Given the description of an element on the screen output the (x, y) to click on. 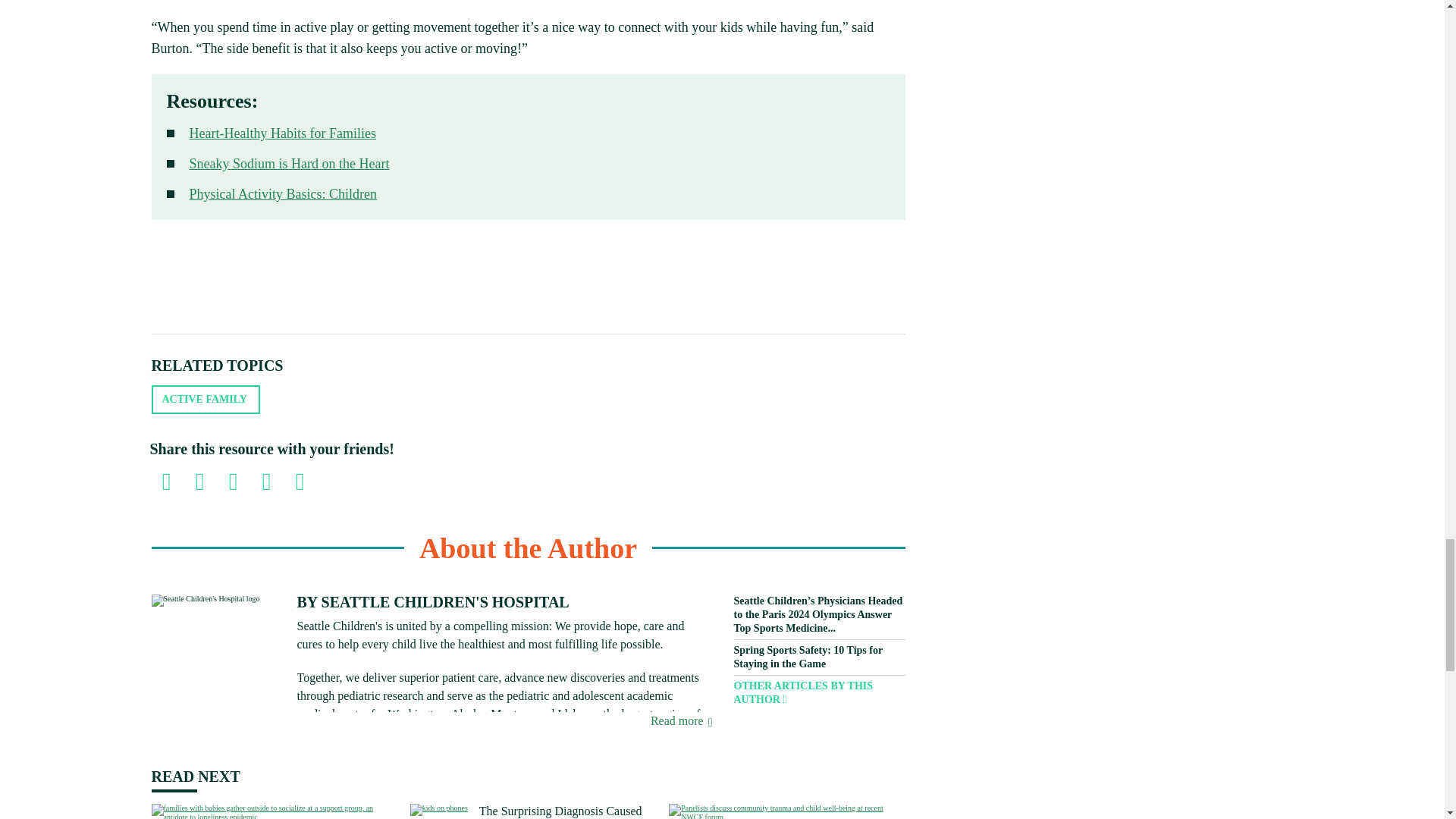
Read more (680, 720)
